Given the description of an element on the screen output the (x, y) to click on. 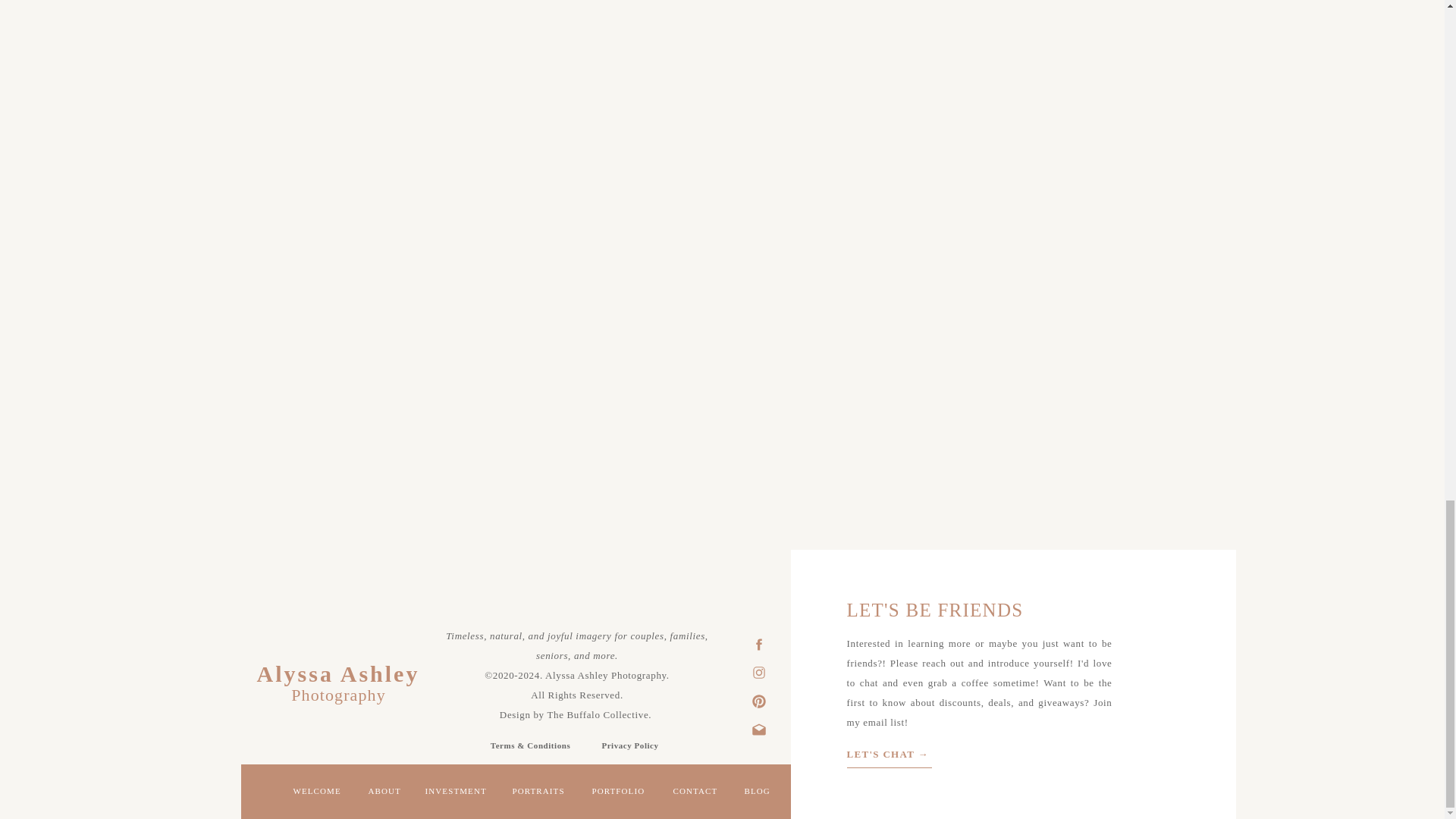
BLOG (759, 793)
PORTRAITS (541, 793)
ABOUT (386, 793)
WELCOME (319, 793)
INVESTMENT (457, 793)
PORTFOLIO (620, 793)
CONTACT (697, 793)
Privacy Policy (629, 744)
